Given the description of an element on the screen output the (x, y) to click on. 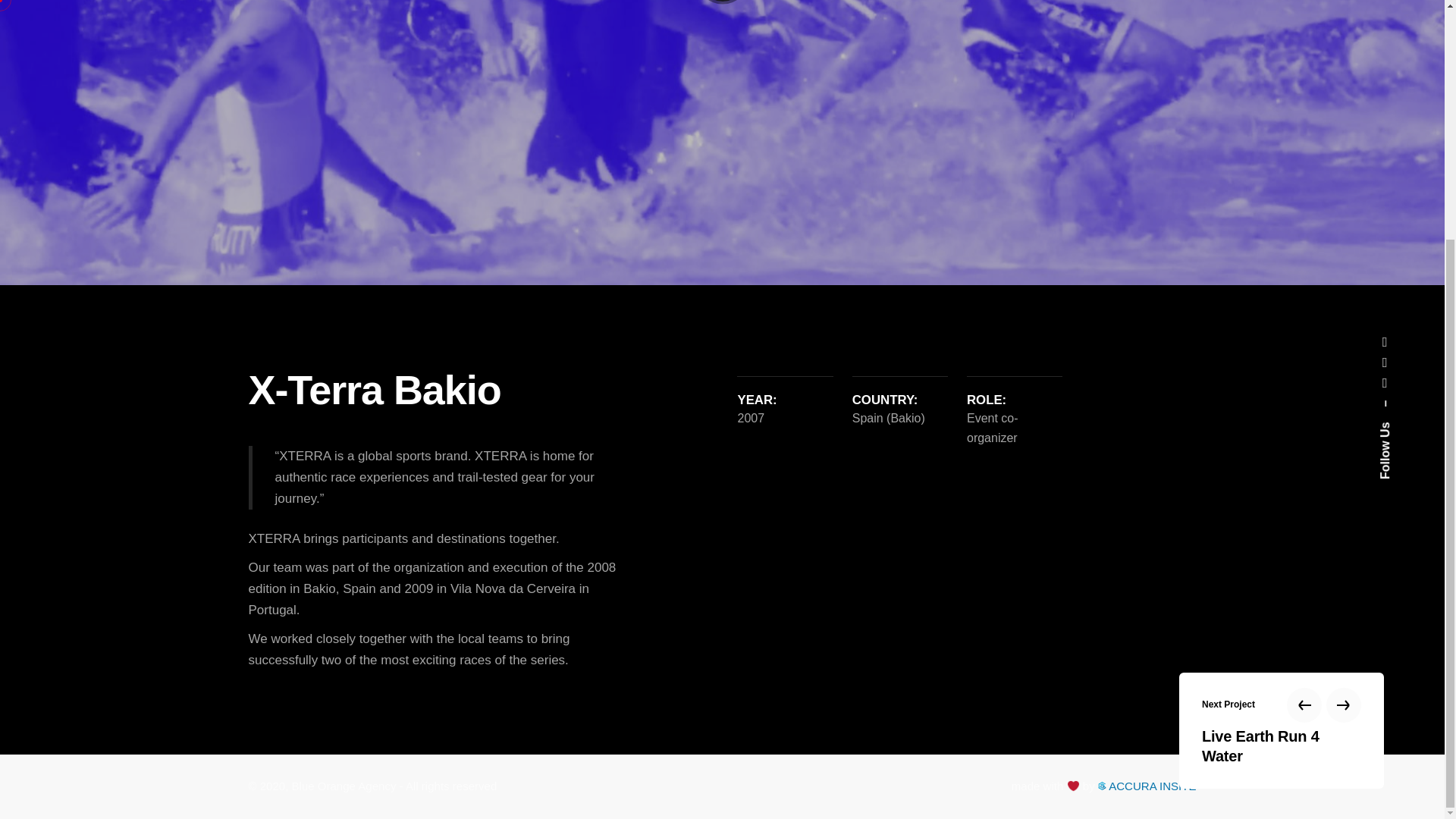
ACCURA INSITE (1146, 785)
Live Earth Run 4 Water (1281, 416)
